Given the description of an element on the screen output the (x, y) to click on. 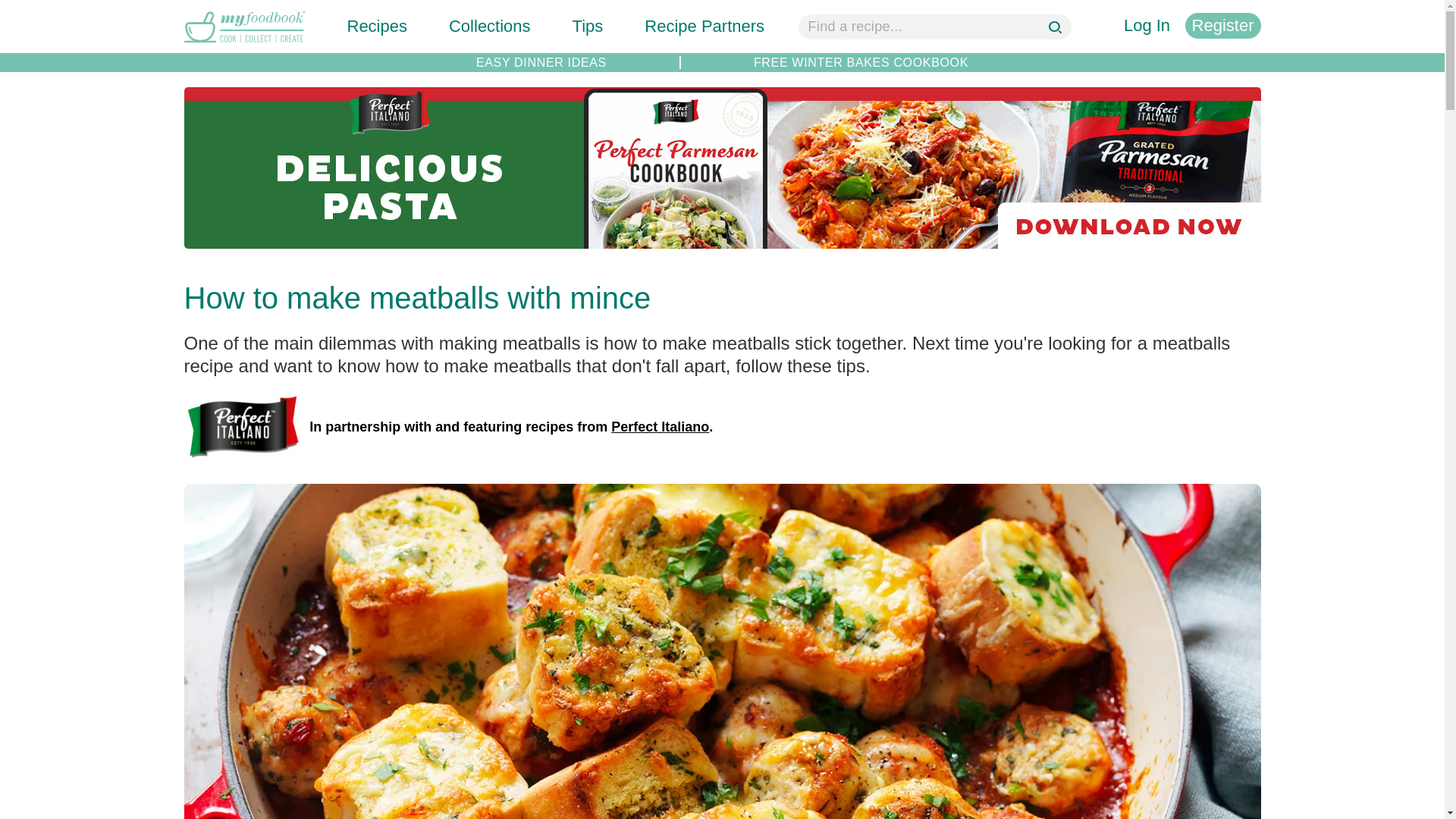
Recipes (377, 26)
go (1056, 28)
Perfect Italiano (660, 426)
myfoodbook home (243, 43)
Perfect Italiano recipes on myfoodbook (242, 427)
Recipe Partners (704, 26)
Perfect Italiano Parmesan Cheese Cookbook (721, 238)
Tips (588, 26)
Register (1222, 25)
Rate (17, 7)
FREE WINTER BAKES COOKBOOK (861, 62)
Dinner Recipes (541, 62)
go (1056, 28)
EASY DINNER IDEAS (541, 62)
